Given the description of an element on the screen output the (x, y) to click on. 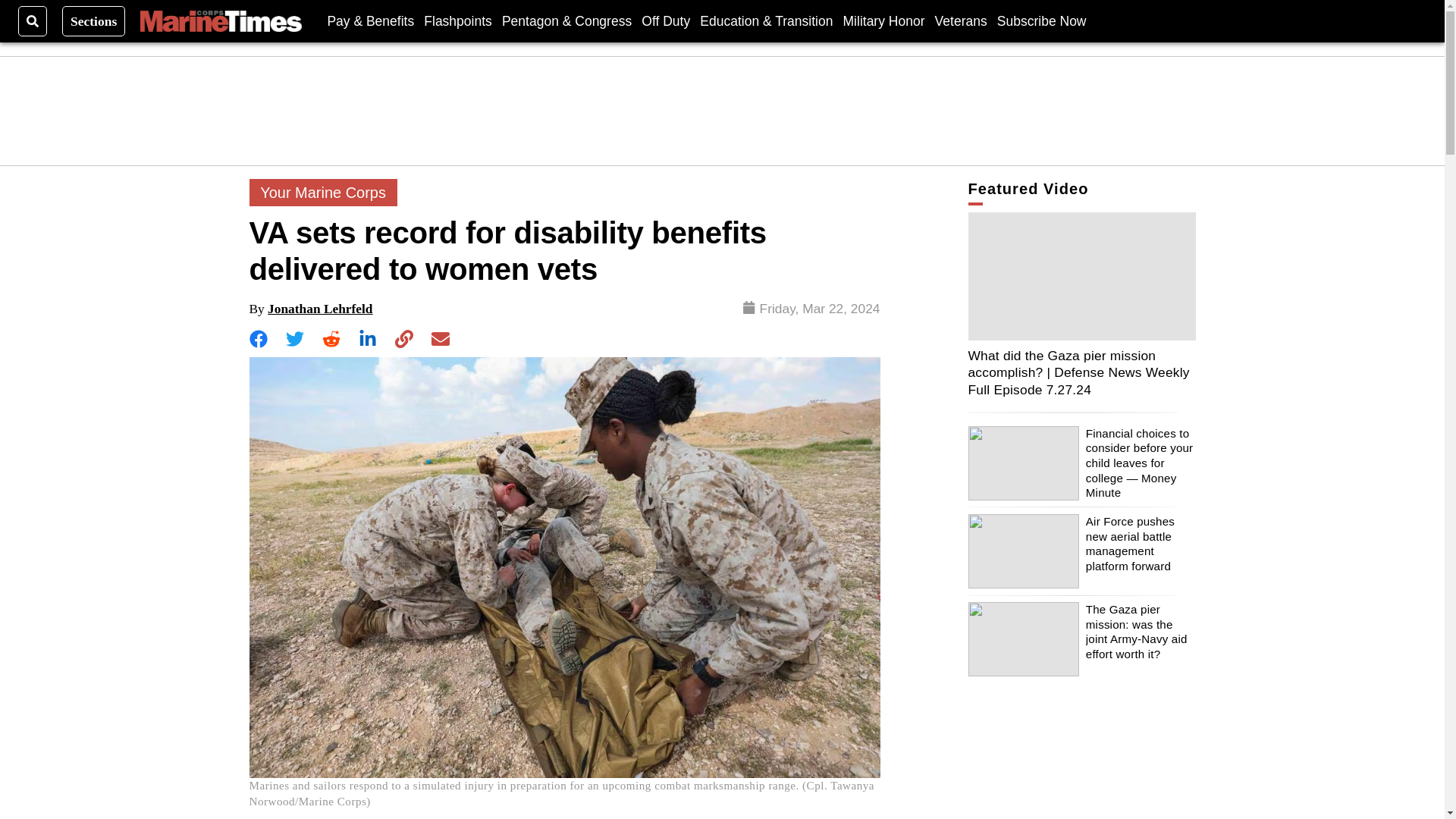
Marine Corps Times Logo (220, 20)
Military Honor (883, 20)
Flashpoints (457, 20)
Sections (93, 20)
Off Duty (666, 20)
Veterans (960, 20)
